Given the description of an element on the screen output the (x, y) to click on. 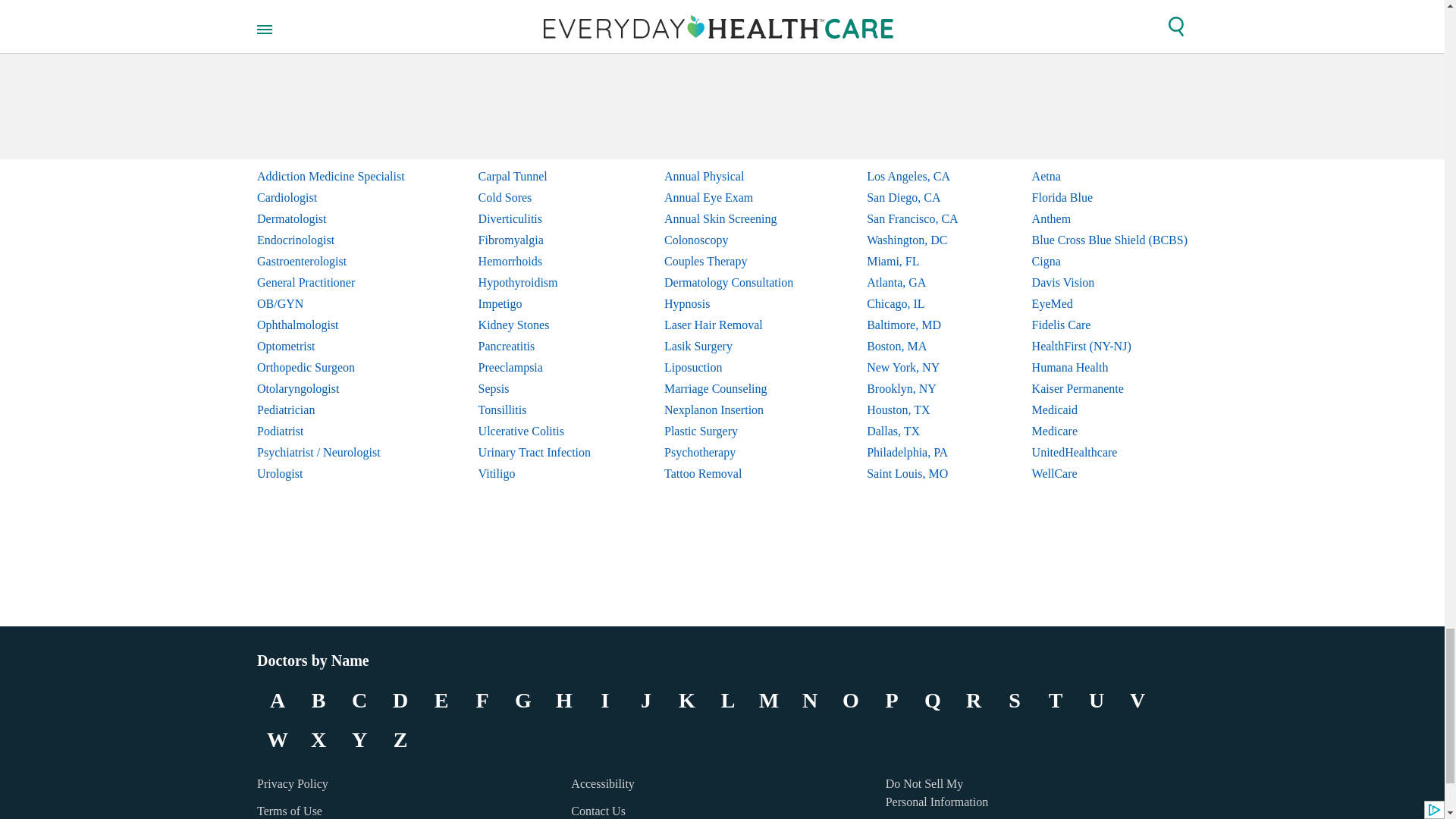
Addiction Medicine Specialist (330, 176)
See All Specialists (330, 14)
Dermatologist (330, 219)
Ophthalmologist (330, 324)
Endocrinologist (330, 240)
General Practitioner (330, 282)
Gastroenterologist (330, 260)
Optometrist (330, 346)
Cardiologist (330, 197)
